Given the description of an element on the screen output the (x, y) to click on. 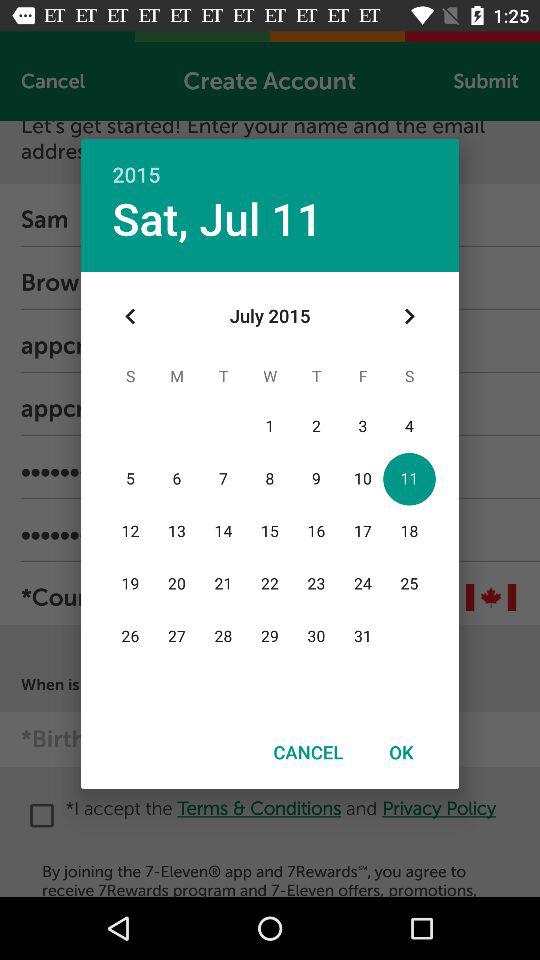
launch icon above the ok icon (408, 316)
